Given the description of an element on the screen output the (x, y) to click on. 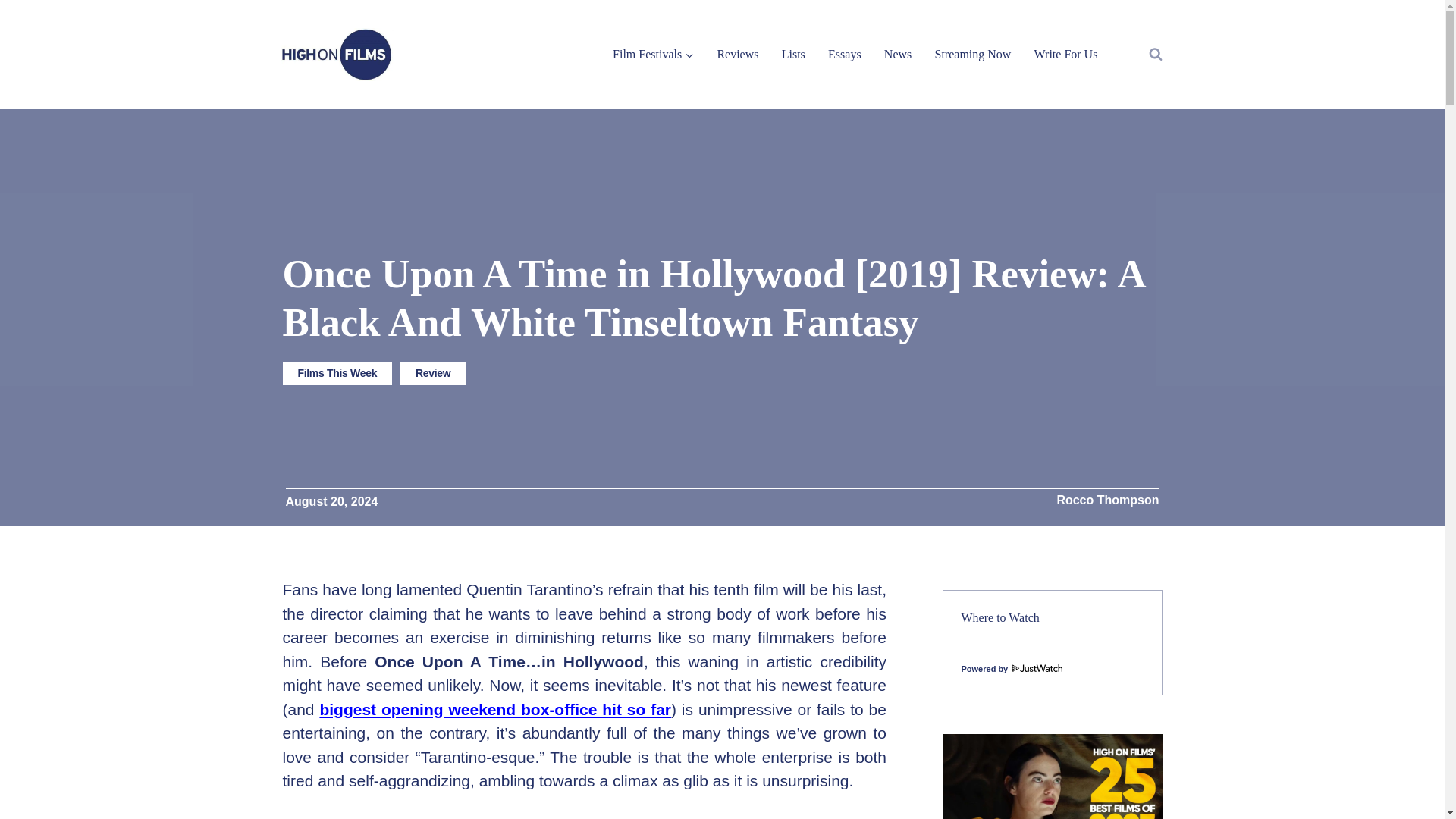
Lists (793, 53)
Rocco Thompson (1107, 499)
Streaming Now (972, 53)
Write For Us (1065, 53)
Films This Week (336, 372)
Review (432, 372)
biggest opening weekend box-office hit so far (494, 709)
News (897, 53)
Film Festivals (652, 53)
Reviews (737, 53)
